Given the description of an element on the screen output the (x, y) to click on. 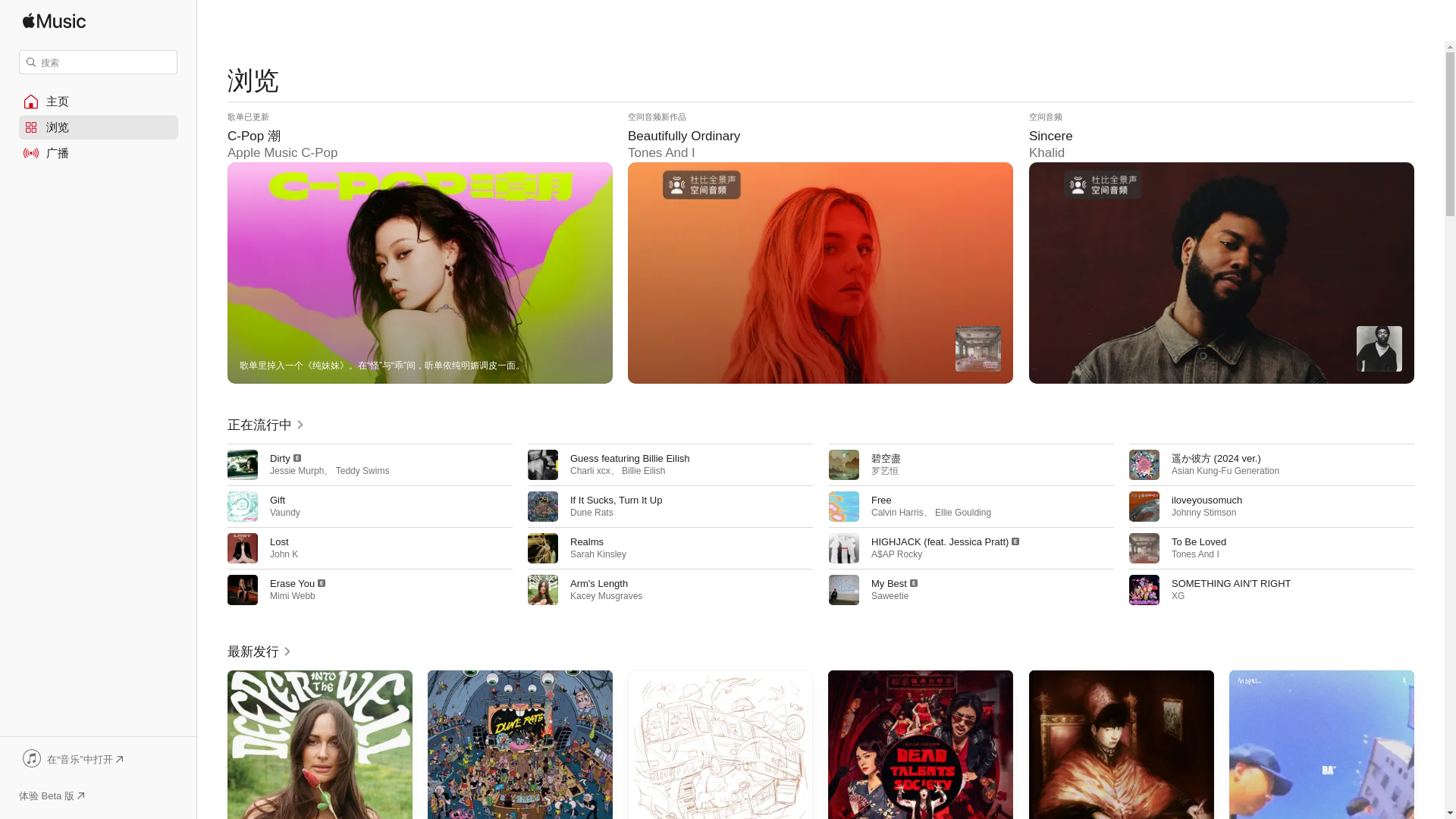
Teddy Swims (363, 470)
John K (283, 553)
Jessie Murph (296, 470)
Gift (277, 500)
Billie Eilish (643, 470)
Guess featuring Billie Eilish (630, 458)
Beautifully Ordinary (820, 247)
Sincere (1221, 247)
Charli xcx (590, 470)
Erase You (291, 583)
